Given the description of an element on the screen output the (x, y) to click on. 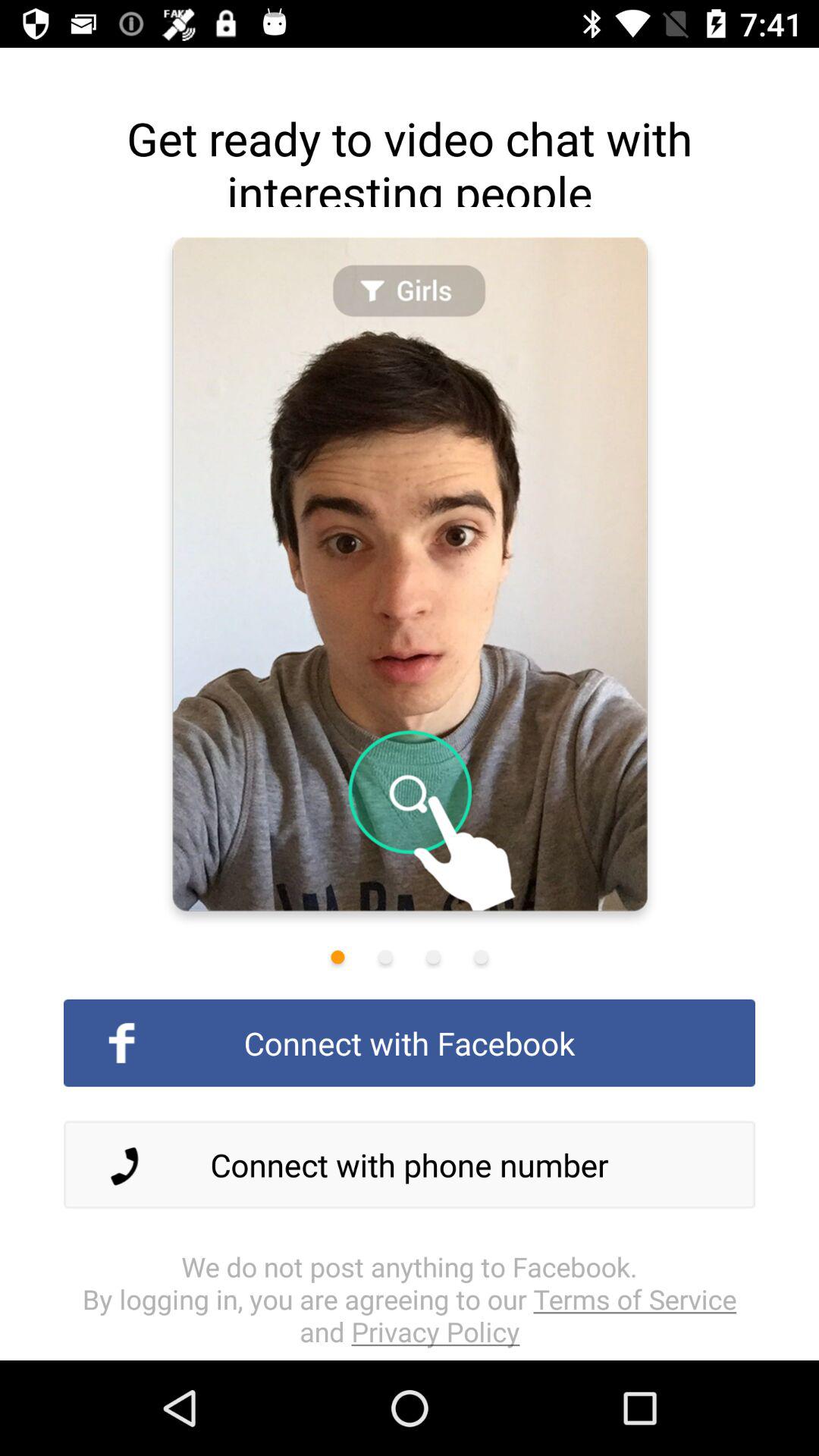
share the article (337, 957)
